Given the description of an element on the screen output the (x, y) to click on. 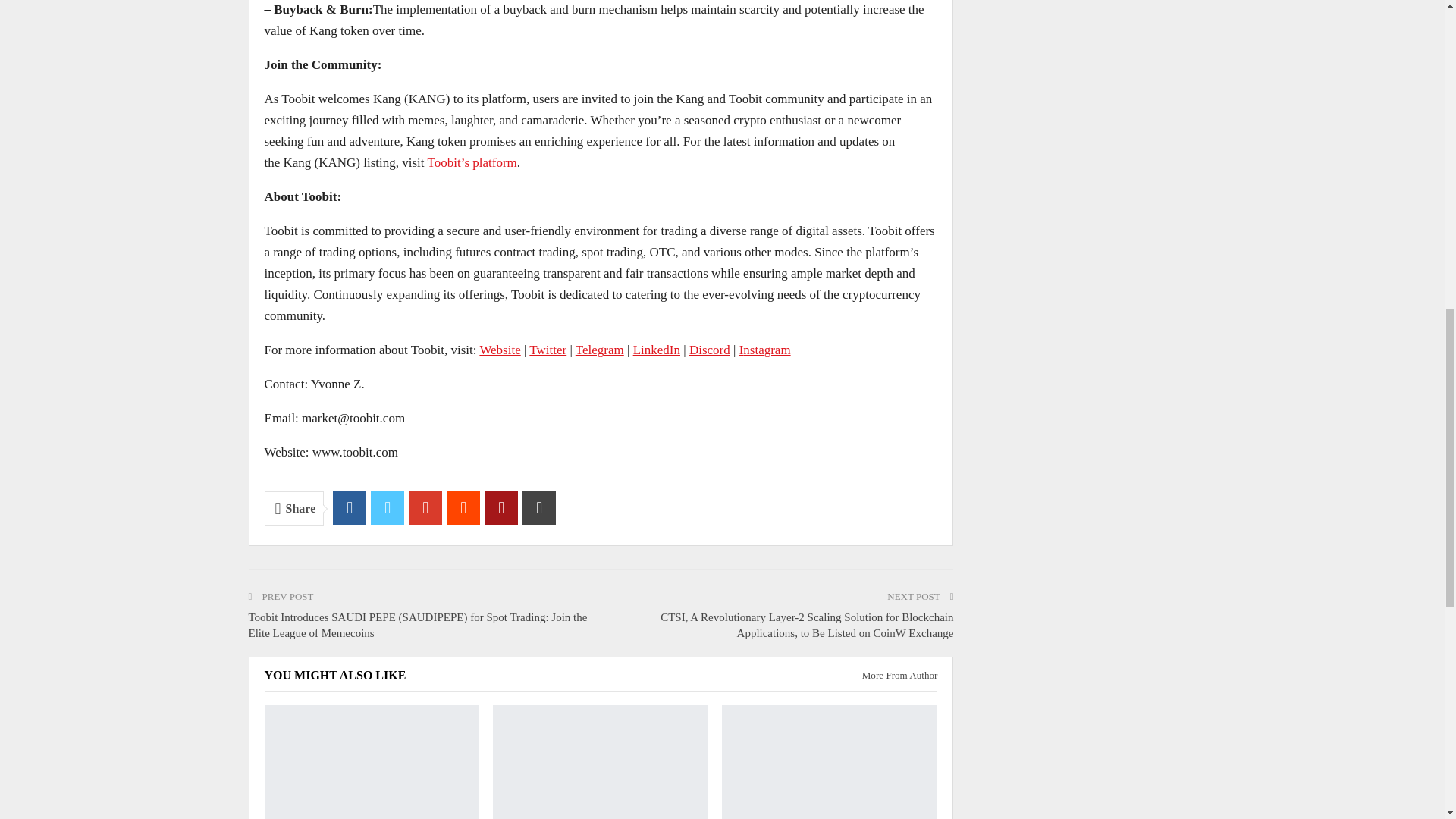
Twitter (547, 350)
LinkedIn (656, 350)
Discord (709, 350)
Instagram (764, 350)
ONDO, a RWA Platform, Will Be Listed on CoinW Exchange (600, 762)
Telegram (599, 350)
Website (499, 350)
